Given the description of an element on the screen output the (x, y) to click on. 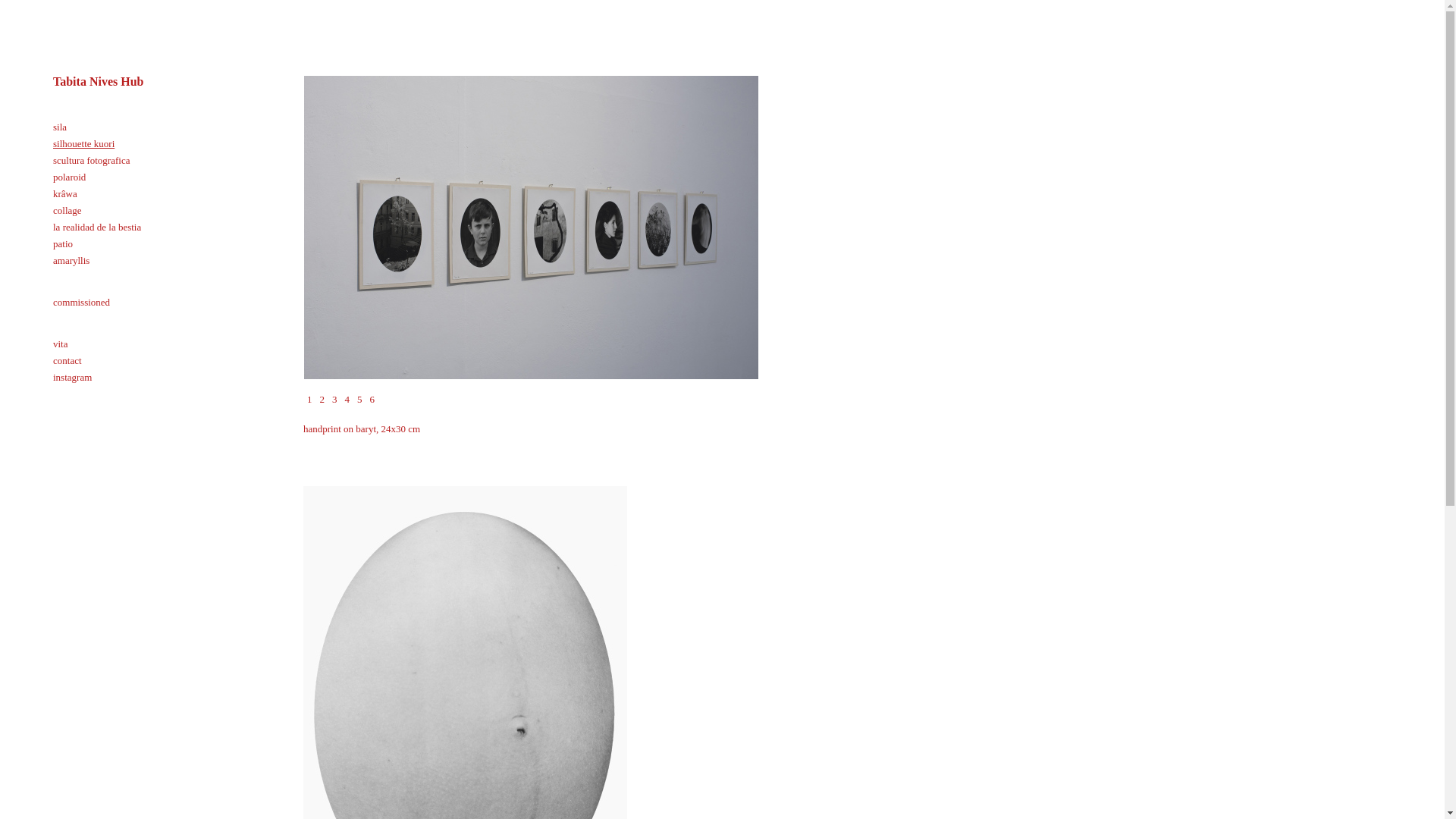
scultura fotografica (90, 160)
4 (346, 398)
Tabita Nives Hub (97, 81)
sila (59, 126)
polaroid (68, 176)
silhouette kuori (83, 143)
5 (359, 398)
vita (60, 343)
la realidad de la bestia (96, 226)
contact (66, 360)
